Given the description of an element on the screen output the (x, y) to click on. 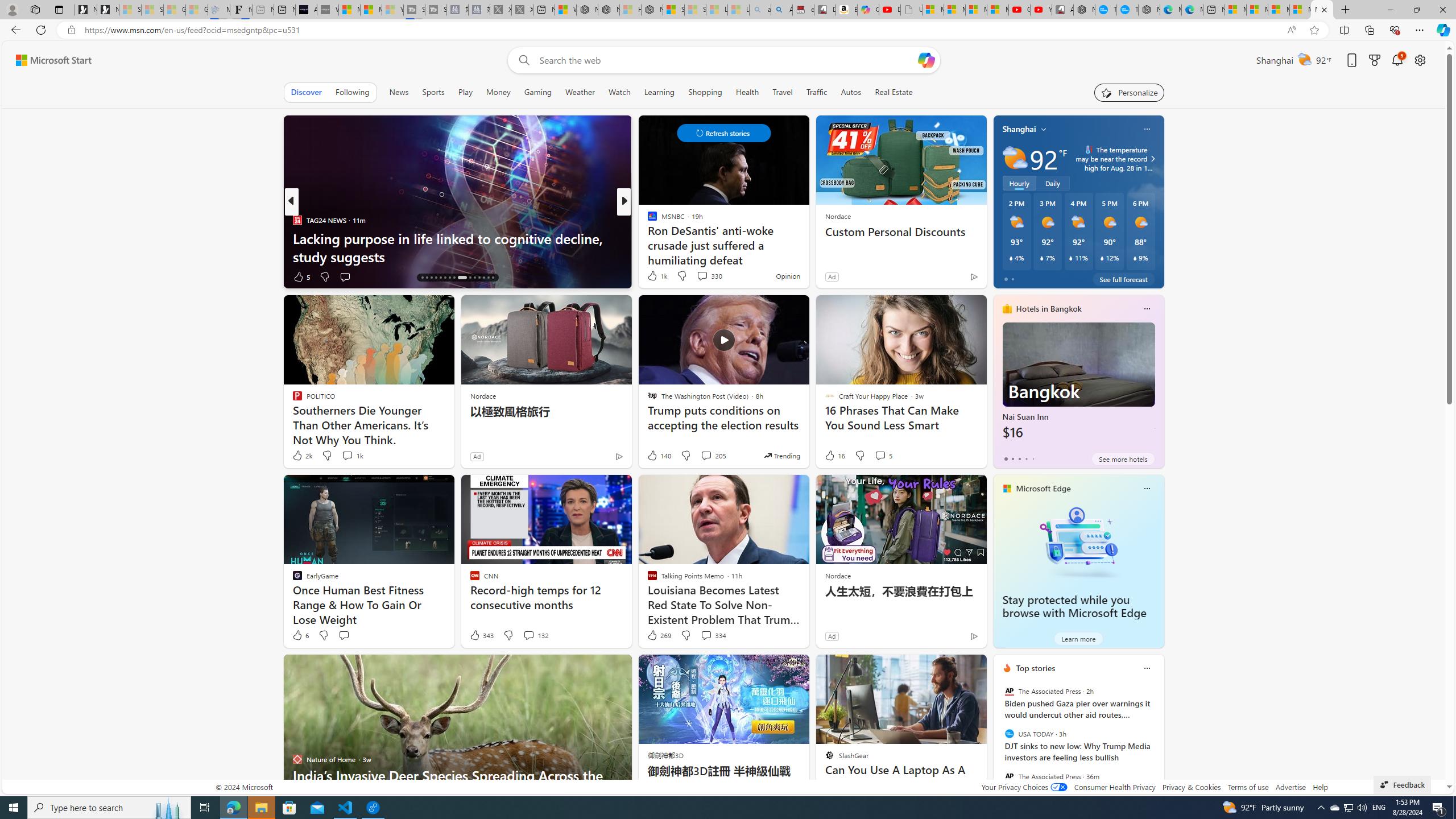
AutomationID: tab-24 (461, 277)
AutomationID: tab-25 (470, 277)
AutomationID: tab-17 (426, 277)
View comments 205 Comment (712, 455)
Planning to Organize (647, 219)
6 Like (299, 634)
Stay protected while you browse with Microsoft Edge (1077, 541)
